Given the description of an element on the screen output the (x, y) to click on. 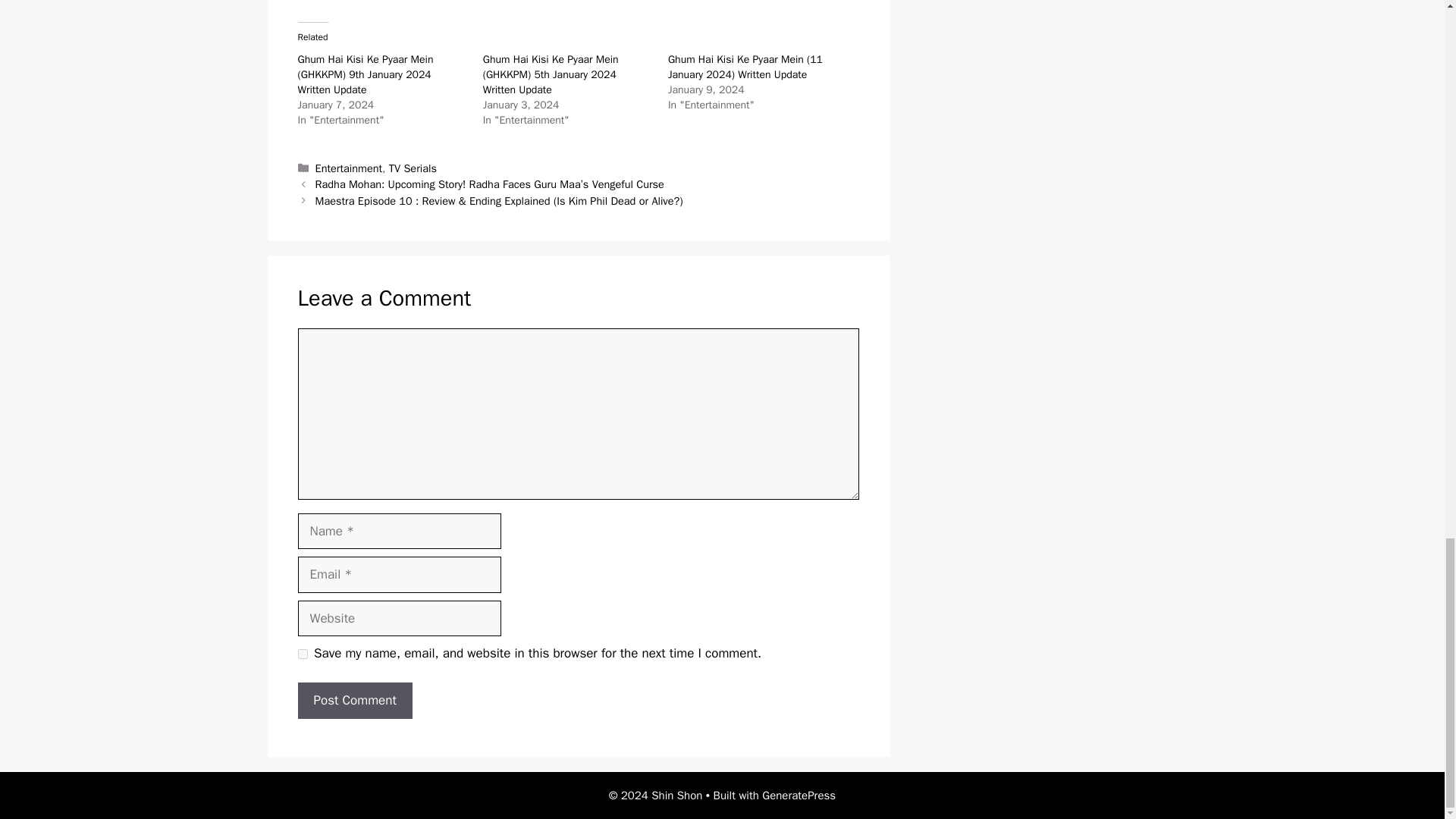
yes (302, 654)
TV Serials (412, 168)
Post Comment (354, 700)
Post Comment (354, 700)
Entertainment (348, 168)
GeneratePress (798, 795)
